Given the description of an element on the screen output the (x, y) to click on. 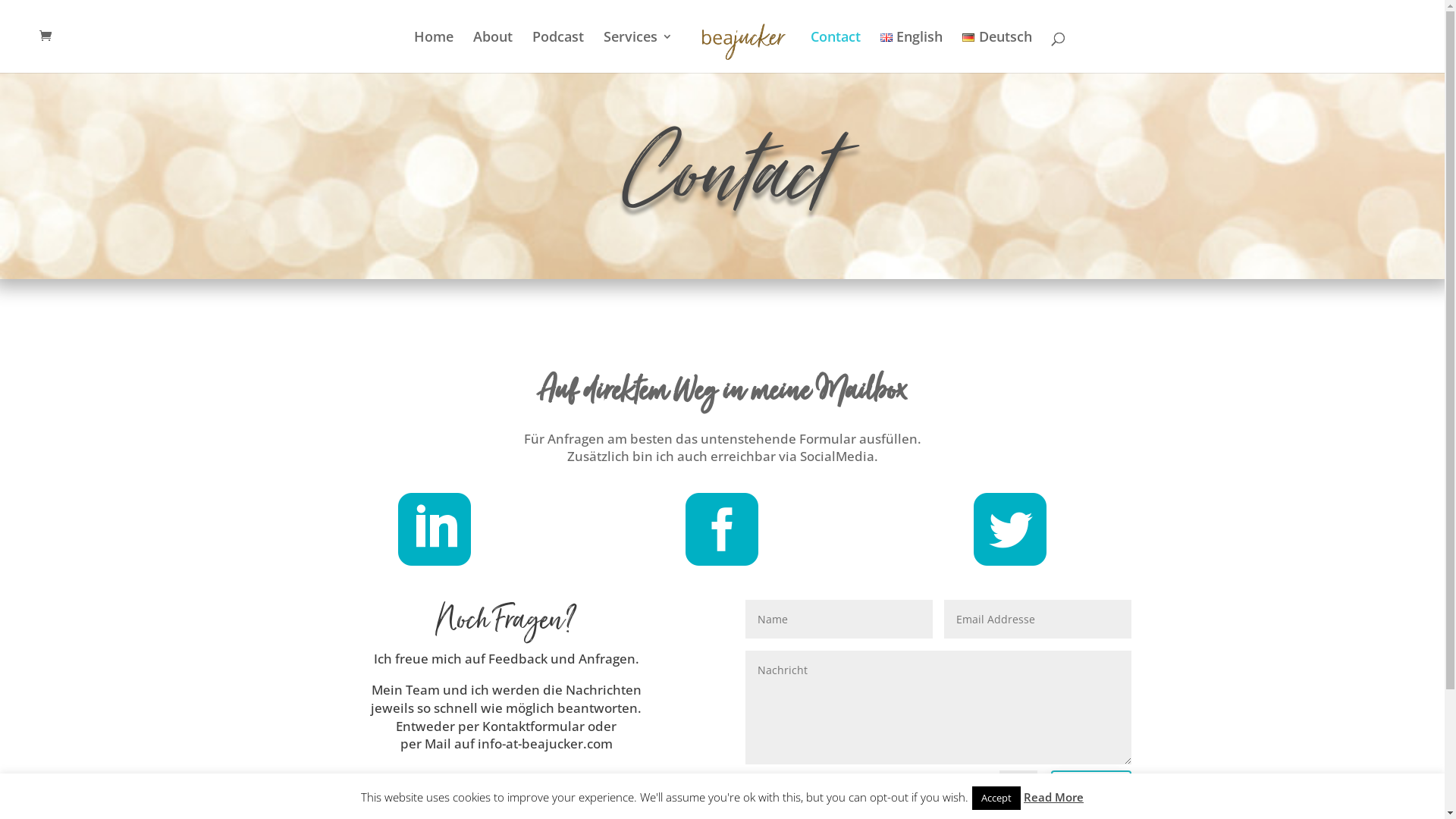
Services Element type: text (637, 51)
English Element type: text (911, 51)
Contact Element type: text (835, 51)
About Element type: text (492, 51)
Deutsch Element type: text (996, 51)
Home Element type: text (433, 51)
Read More Element type: text (1053, 796)
Podcast Element type: text (557, 51)
Senden Element type: text (1091, 789)
Accept Element type: text (996, 797)
